Given the description of an element on the screen output the (x, y) to click on. 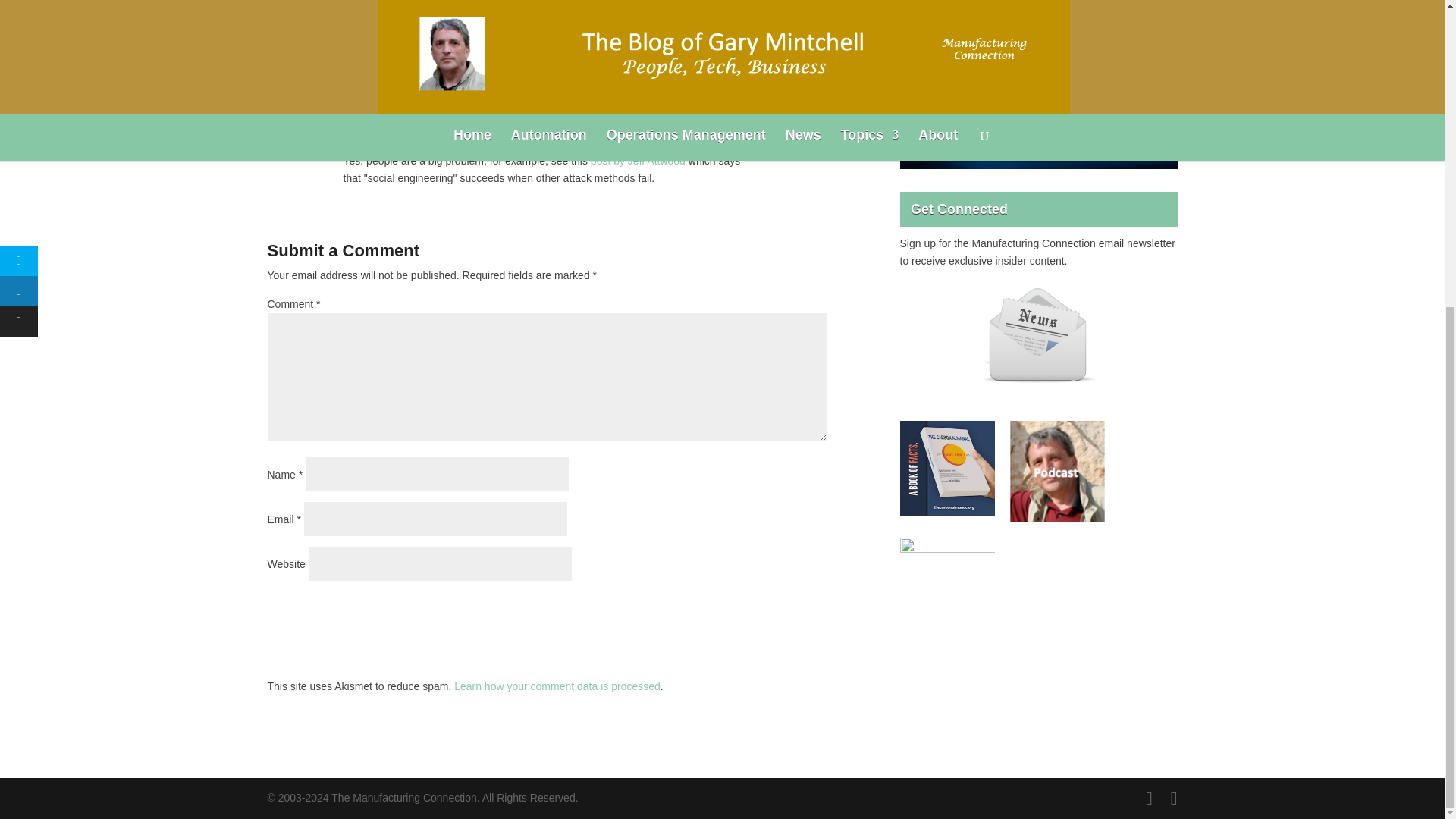
Learn how your comment data is processed (557, 686)
Tony (356, 136)
Reply (813, 141)
post by Jeff Attwood (638, 160)
Submit Comment (752, 610)
Submit Comment (752, 610)
